Given the description of an element on the screen output the (x, y) to click on. 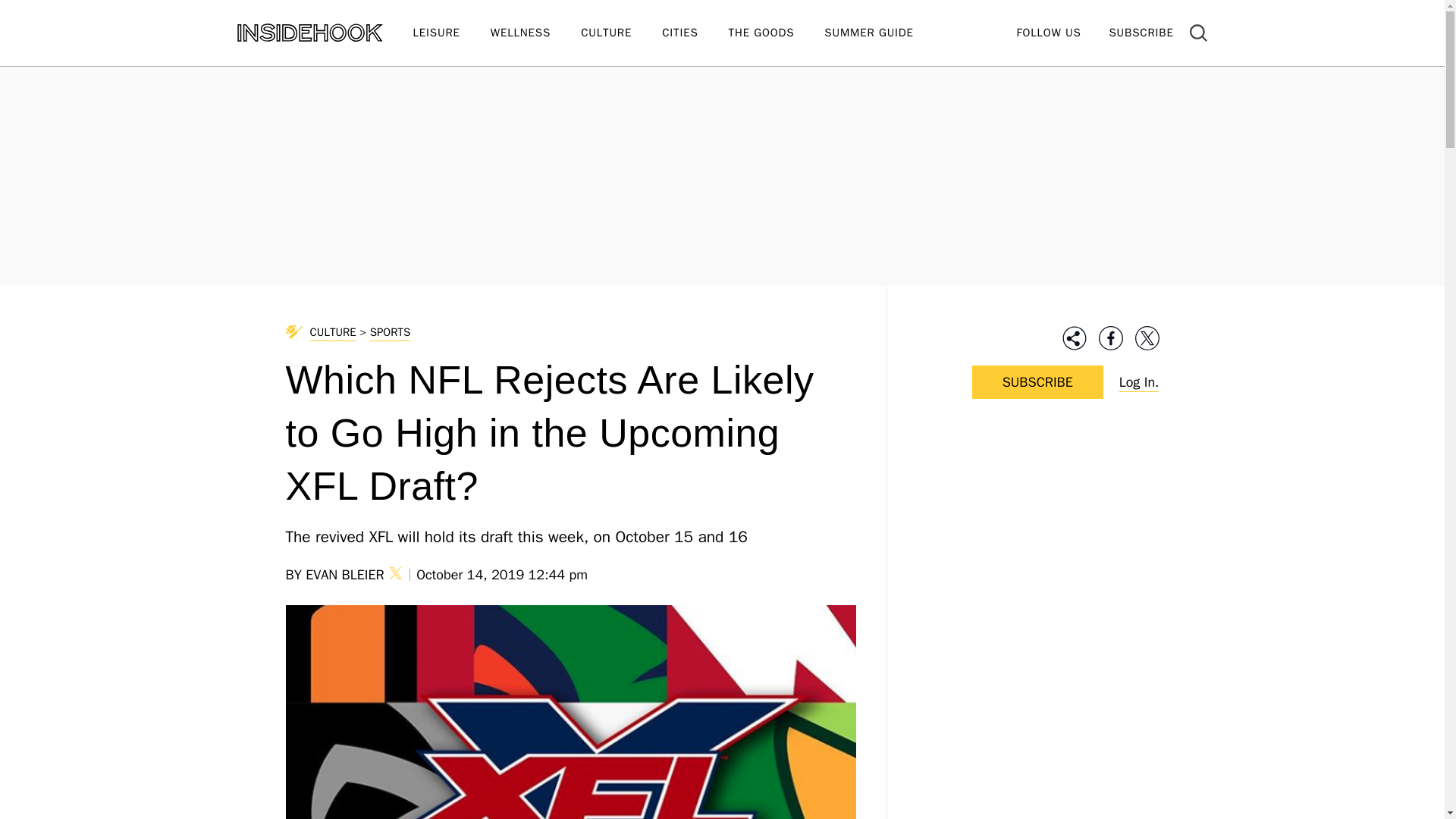
FOLLOW US (1048, 32)
THE GOODS (777, 32)
LEISURE (450, 32)
SUBSCRIBE (1140, 32)
SUMMER GUIDE (883, 32)
WELLNESS (535, 32)
CULTURE (621, 32)
CITIES (695, 32)
